Given the description of an element on the screen output the (x, y) to click on. 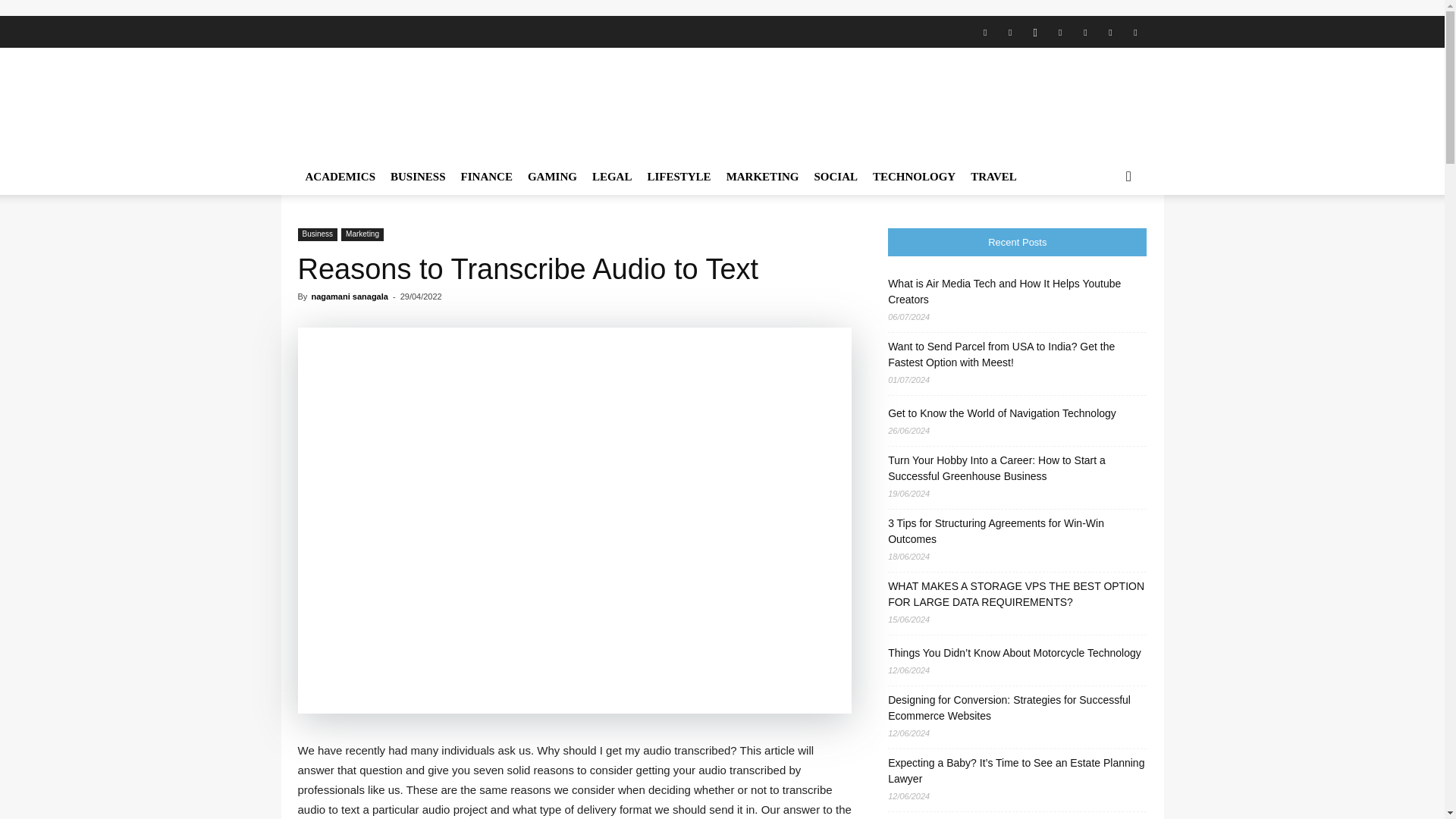
HowToCrazy.Com (426, 102)
Facebook (984, 31)
Instagram (1034, 31)
Twitter (1110, 31)
Pinterest (1085, 31)
Linkedin (1059, 31)
Youtube (1135, 31)
